Given the description of an element on the screen output the (x, y) to click on. 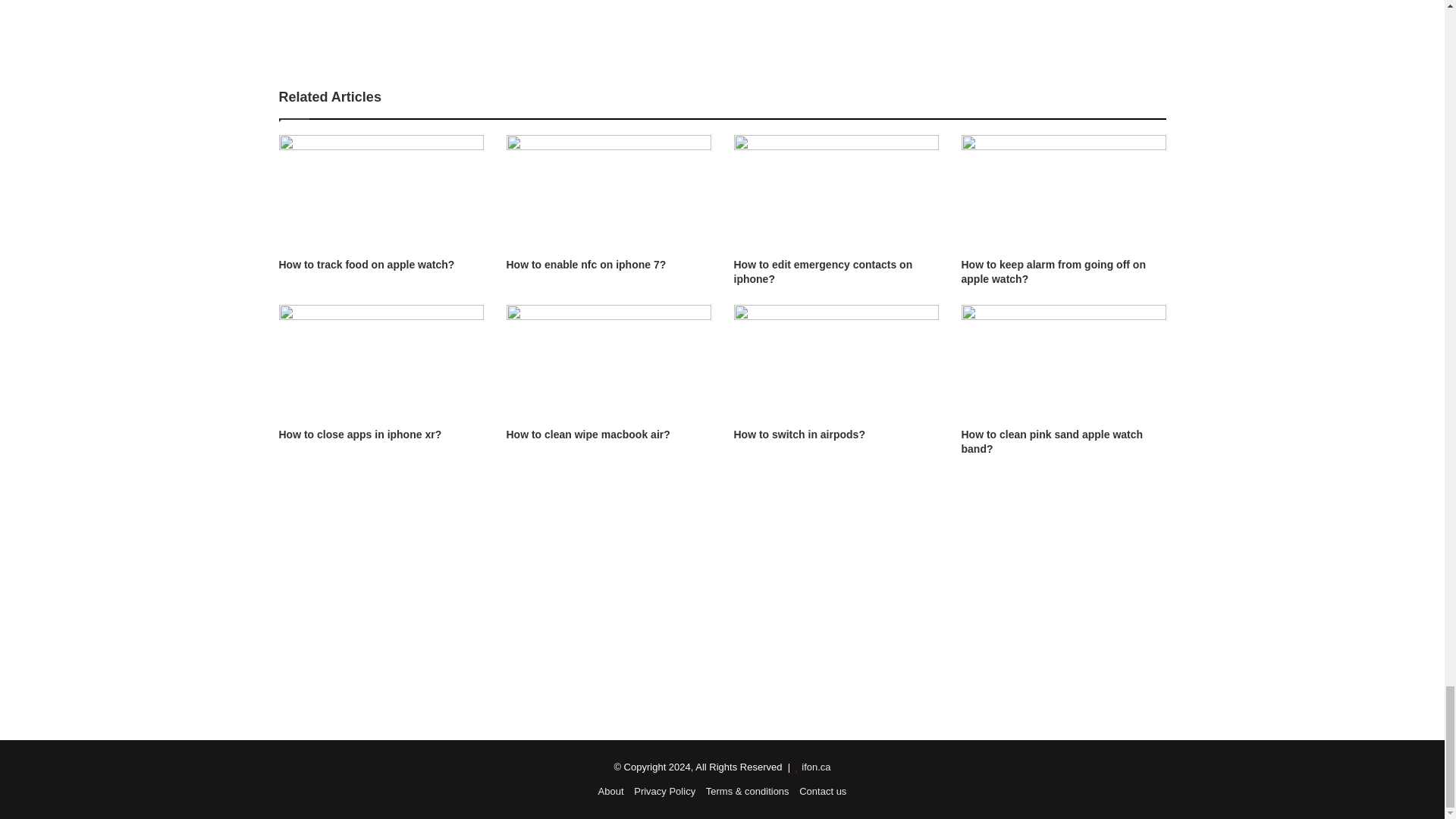
How to enable nfc on iphone 7? (586, 264)
How to edit emergency contacts on iphone? (822, 271)
How to clean wipe macbook air? (587, 434)
ifon.ca (815, 767)
How to close apps in iphone xr? (360, 434)
How to switch in airpods? (798, 434)
How to track food on apple watch? (366, 264)
How to keep alarm from going off on apple watch? (1052, 271)
How to clean pink sand apple watch band? (1051, 441)
About (611, 790)
